Given the description of an element on the screen output the (x, y) to click on. 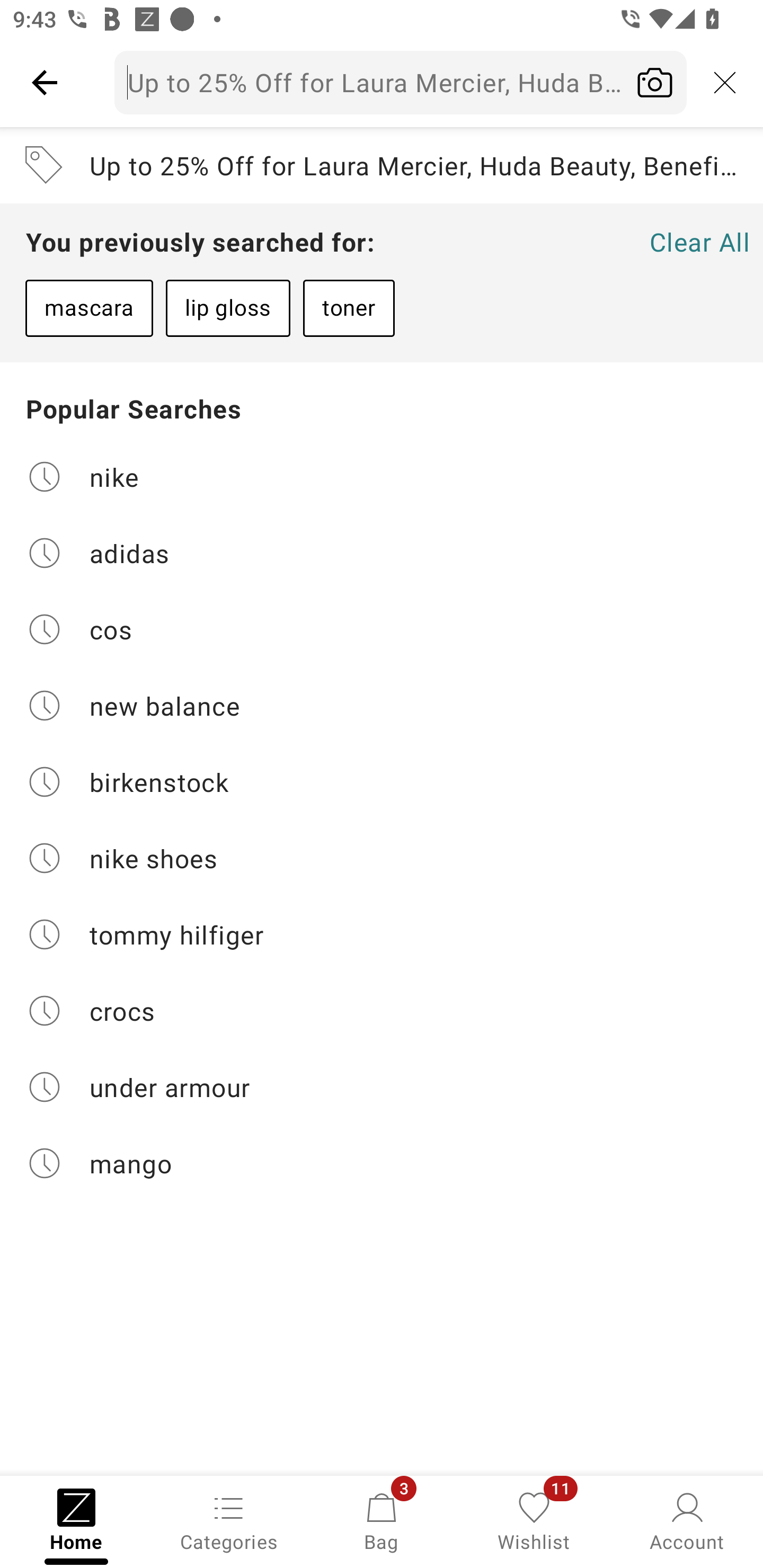
Navigate up (44, 82)
Clear All (699, 241)
mascara (89, 308)
lip gloss (227, 308)
toner (348, 308)
nike (381, 476)
adidas (381, 552)
cos (381, 629)
new balance (381, 705)
birkenstock (381, 781)
nike shoes (381, 858)
tommy hilfiger (381, 934)
crocs (381, 1010)
under armour (381, 1086)
mango (381, 1163)
Categories (228, 1519)
Bag, 3 new notifications Bag (381, 1519)
Wishlist, 11 new notifications Wishlist (533, 1519)
Account (686, 1519)
